Given the description of an element on the screen output the (x, y) to click on. 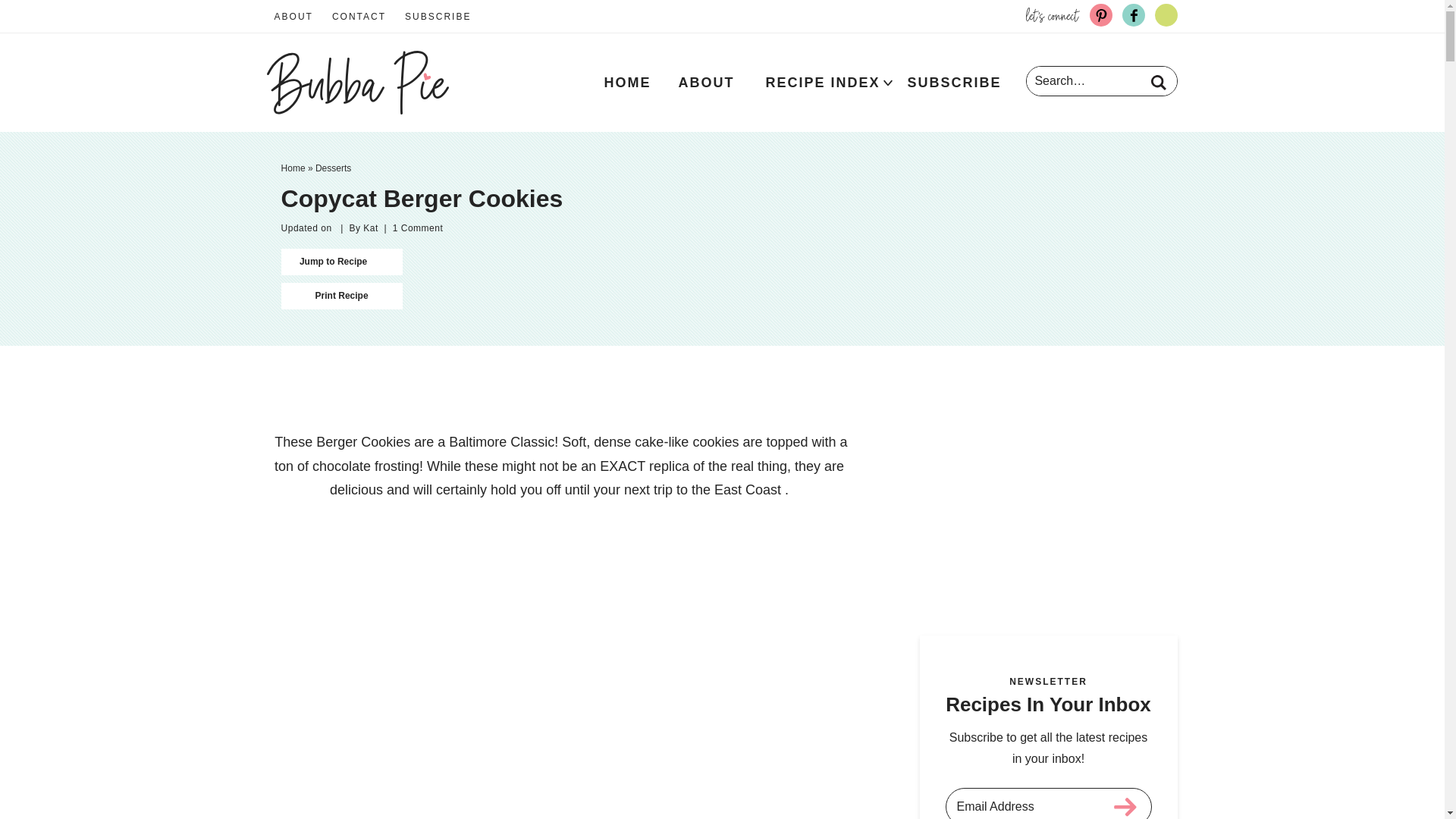
Home (293, 167)
ABOUT (293, 16)
Search for (1101, 80)
Kat (370, 227)
HOME (626, 82)
ABOUT (705, 82)
SUBSCRIBE (953, 82)
Print Recipe (342, 295)
Desserts (332, 167)
RECIPE INDEX (822, 82)
Jump to Recipe (342, 261)
BUBBAPIE (357, 82)
SUBSCRIBE (438, 16)
1 Comment (418, 227)
